Given the description of an element on the screen output the (x, y) to click on. 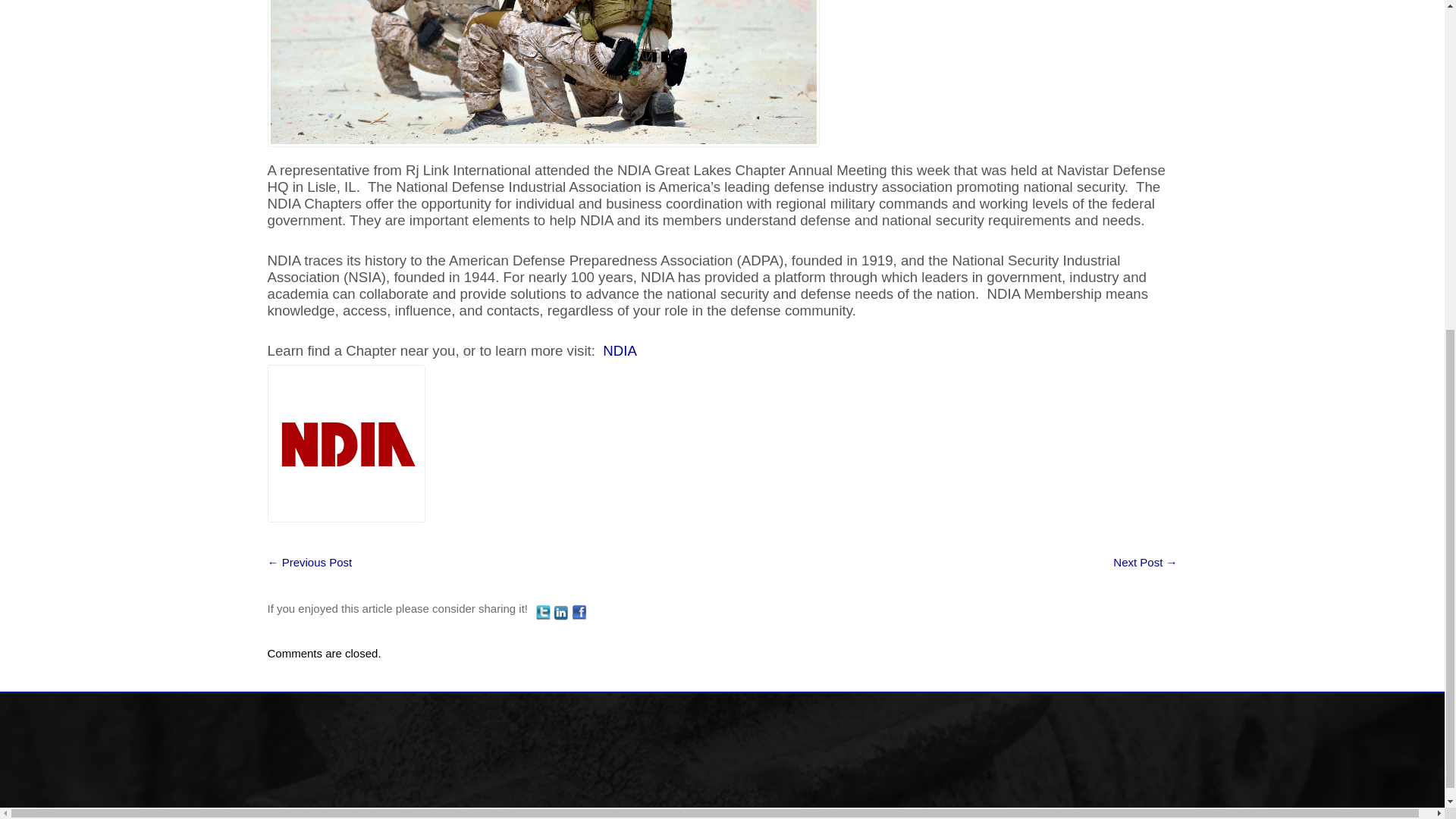
Share on LinkedIn! (562, 611)
linkedin (561, 612)
NDIA (619, 350)
twitter (542, 612)
Tweet this! (544, 611)
facebook (579, 612)
Share on Facebook (579, 611)
